Given the description of an element on the screen output the (x, y) to click on. 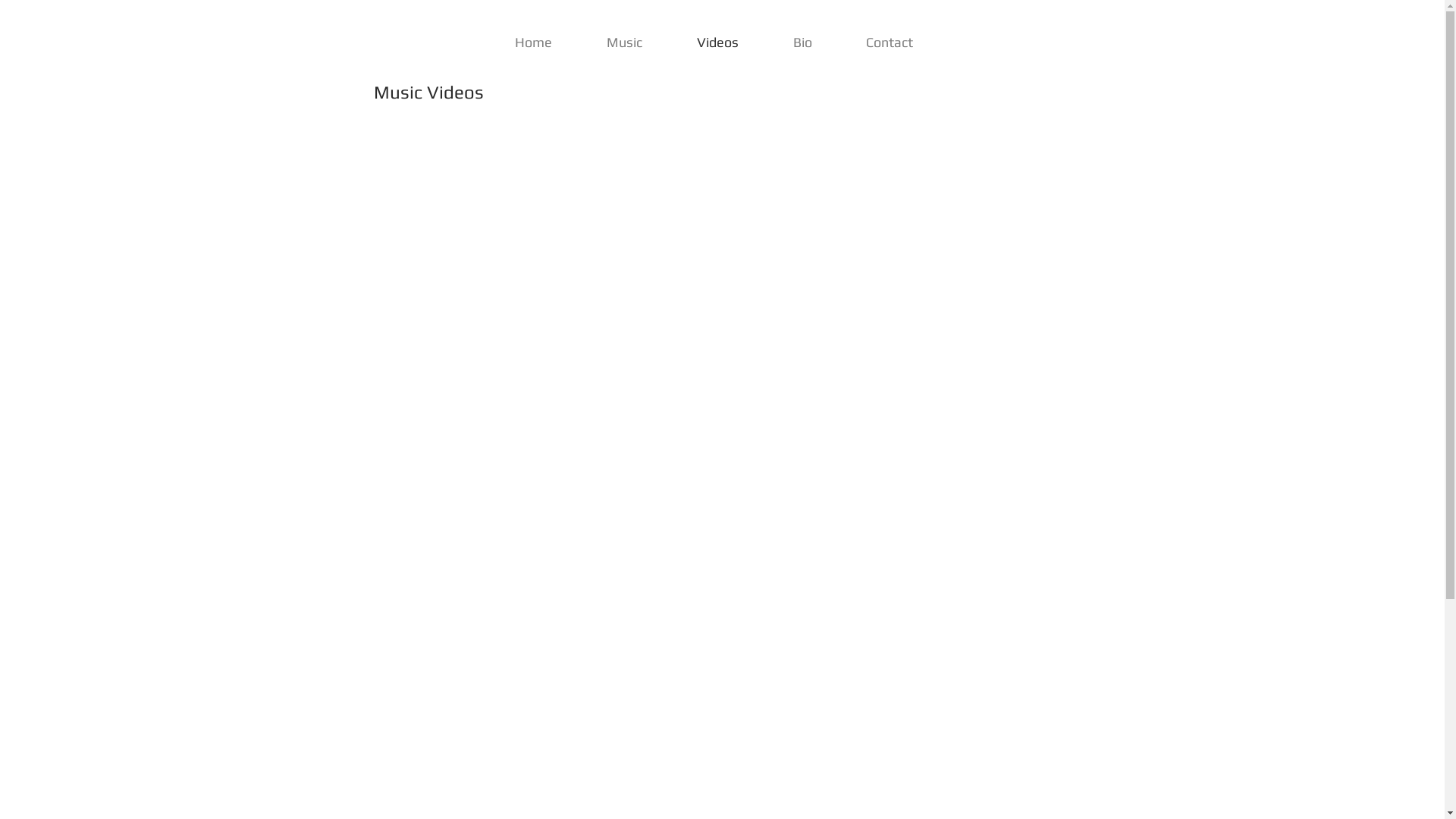
External Vimeo Element type: hover (709, 313)
Videos Element type: text (717, 41)
Contact Element type: text (889, 41)
Home Element type: text (533, 41)
Bio Element type: text (801, 41)
Music Element type: text (623, 41)
